Given the description of an element on the screen output the (x, y) to click on. 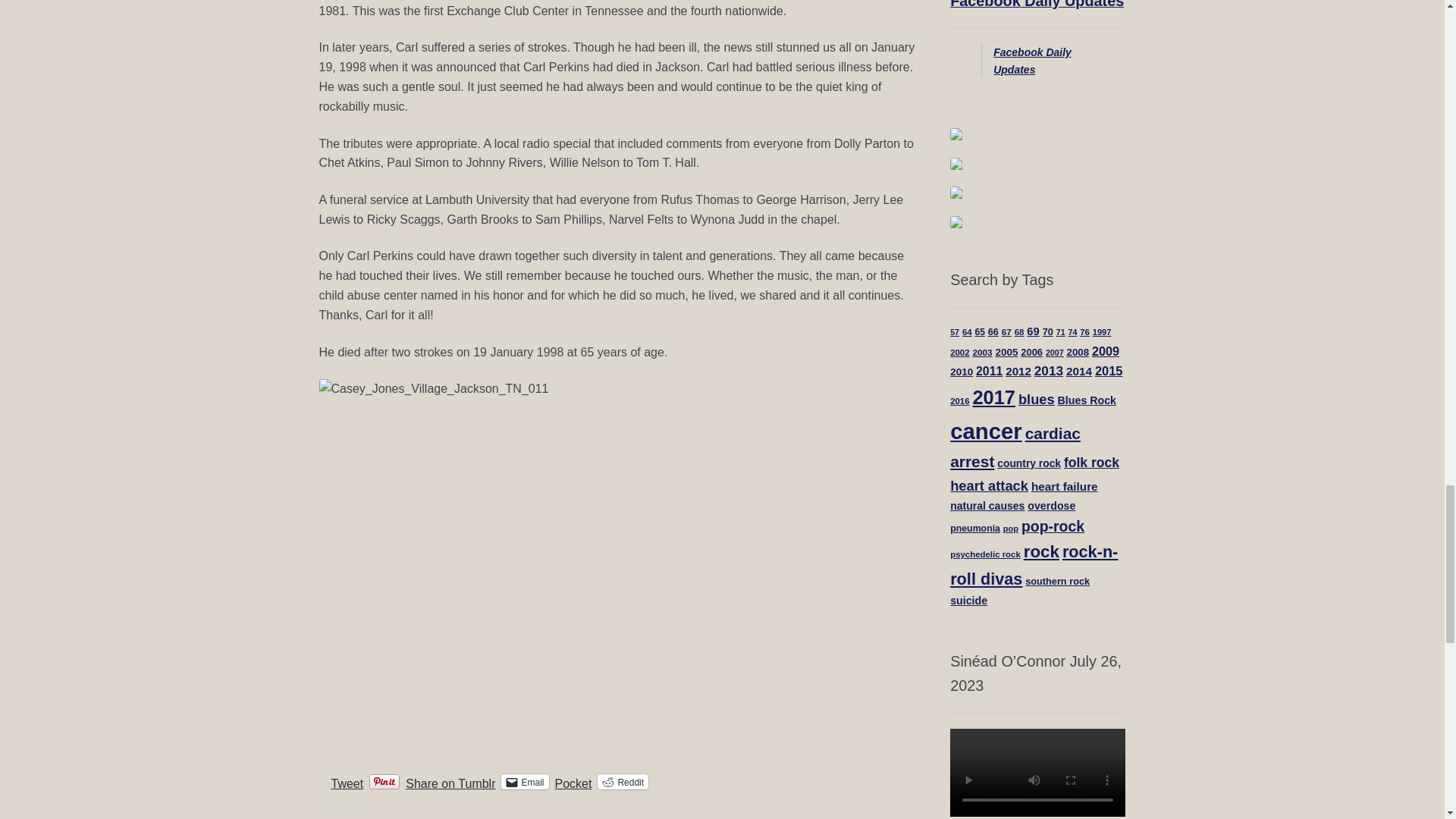
Click to email a link to a friend (524, 781)
Click to share on Reddit (621, 781)
Share on Tumblr (450, 780)
